Given the description of an element on the screen output the (x, y) to click on. 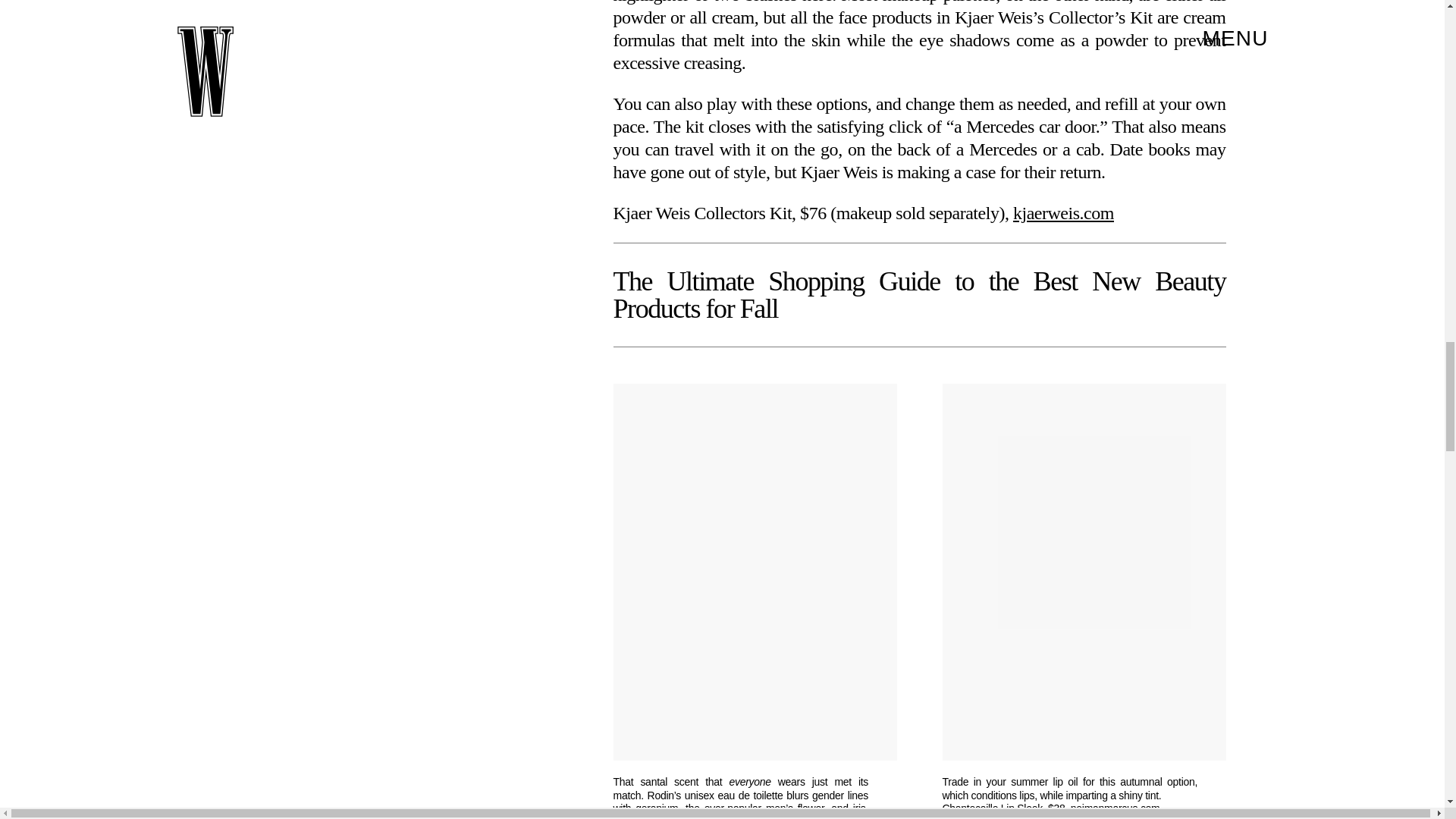
neimanmarcus.com (1115, 808)
kjaerweis.com (1063, 212)
